Given the description of an element on the screen output the (x, y) to click on. 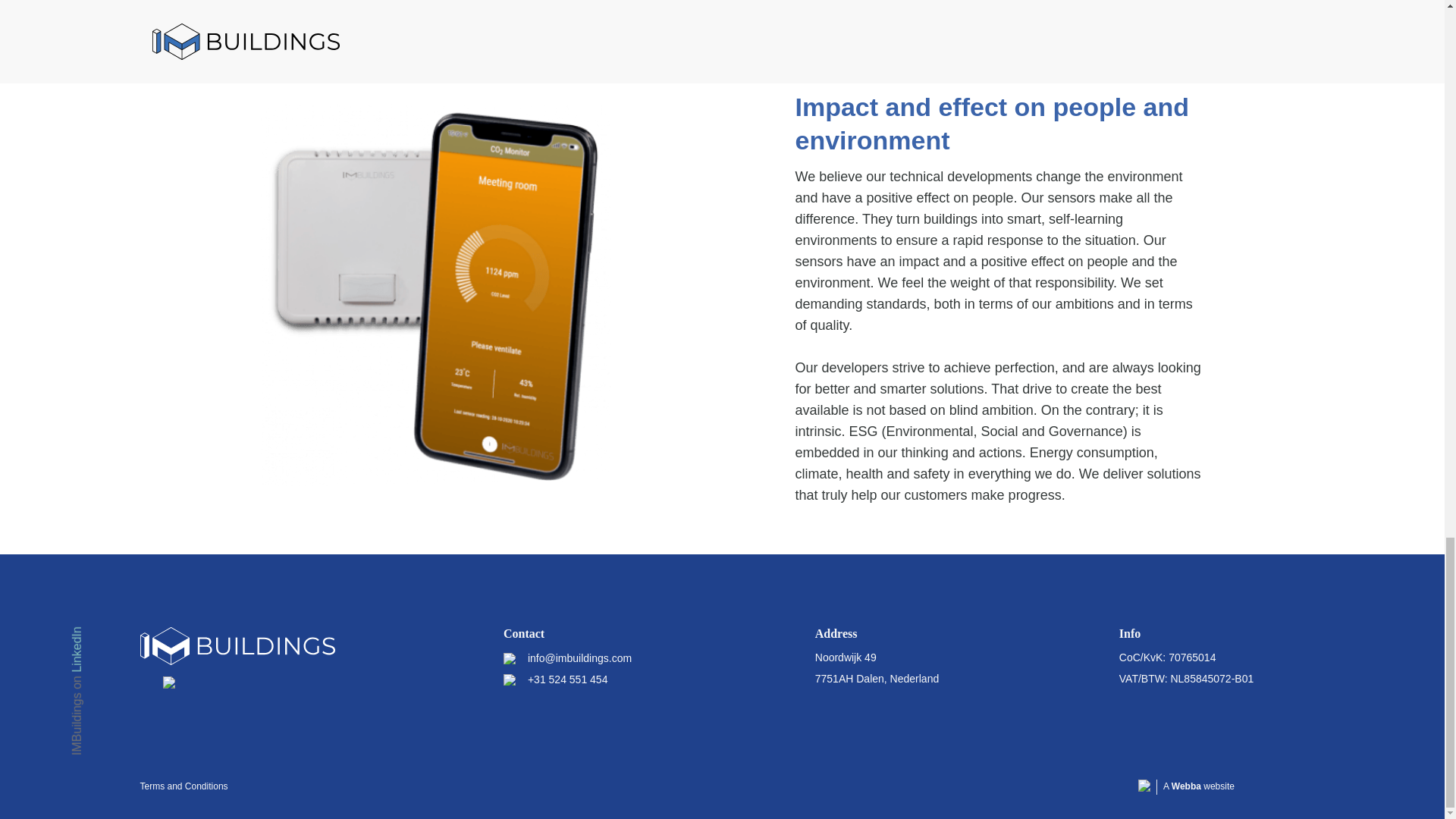
Webba (1186, 786)
Terms and Conditions (183, 786)
